Given the description of an element on the screen output the (x, y) to click on. 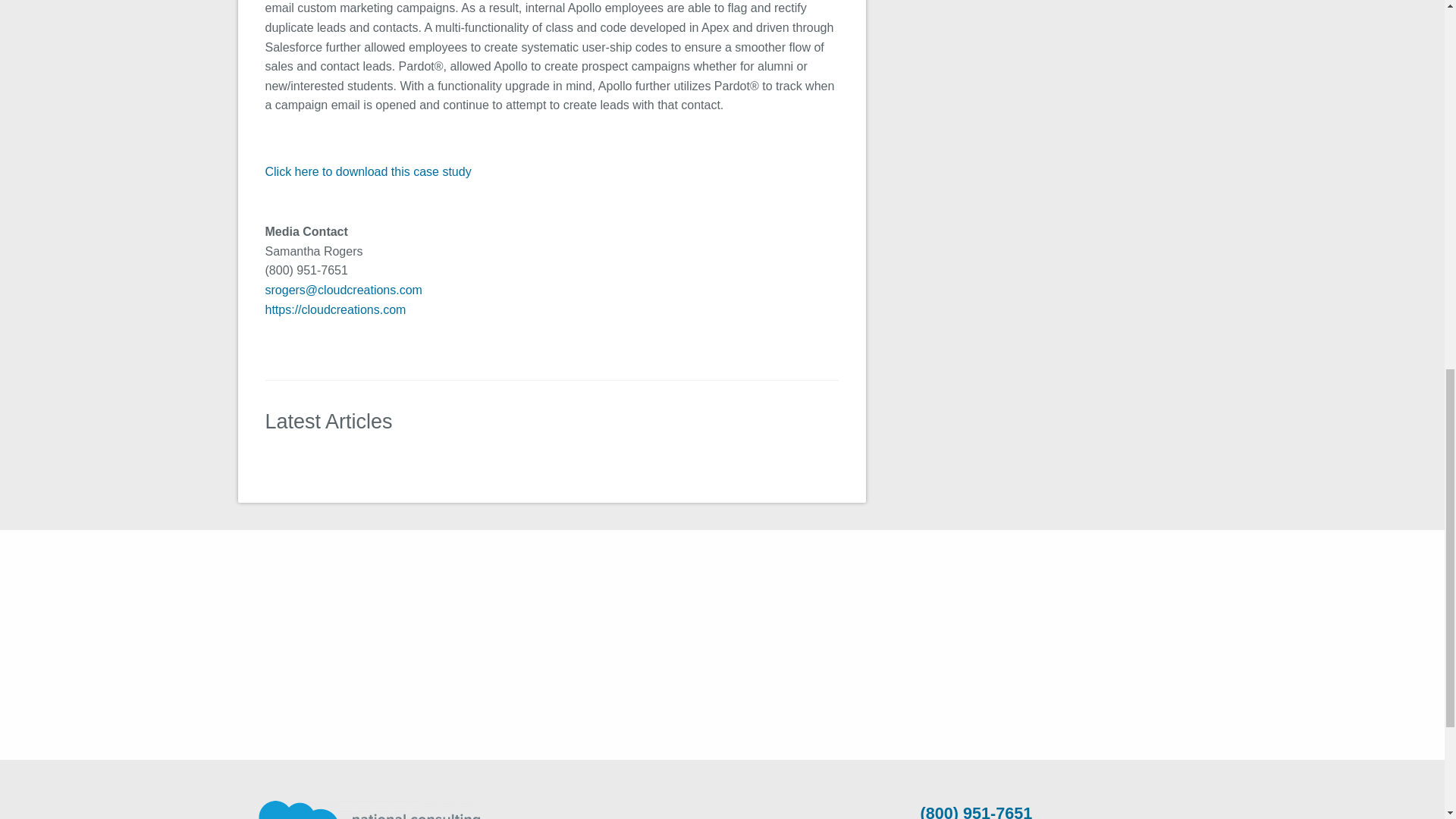
Click here to download this case study (367, 171)
